Given the description of an element on the screen output the (x, y) to click on. 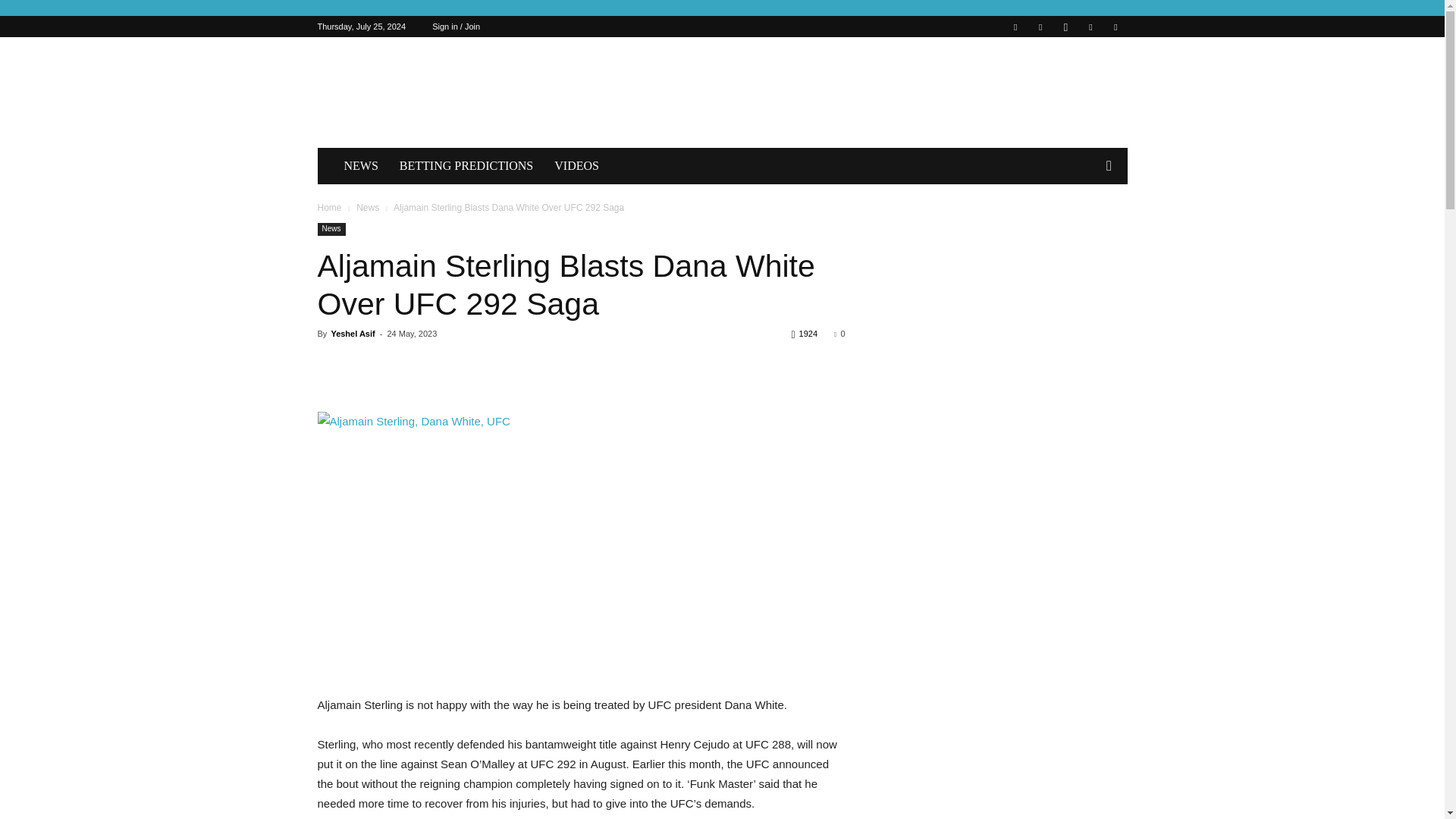
View all posts in News (367, 207)
Twitter (1090, 25)
Facebook (1015, 25)
Youtube (1114, 25)
Instagram (1065, 25)
NEWS (360, 166)
